Given the description of an element on the screen output the (x, y) to click on. 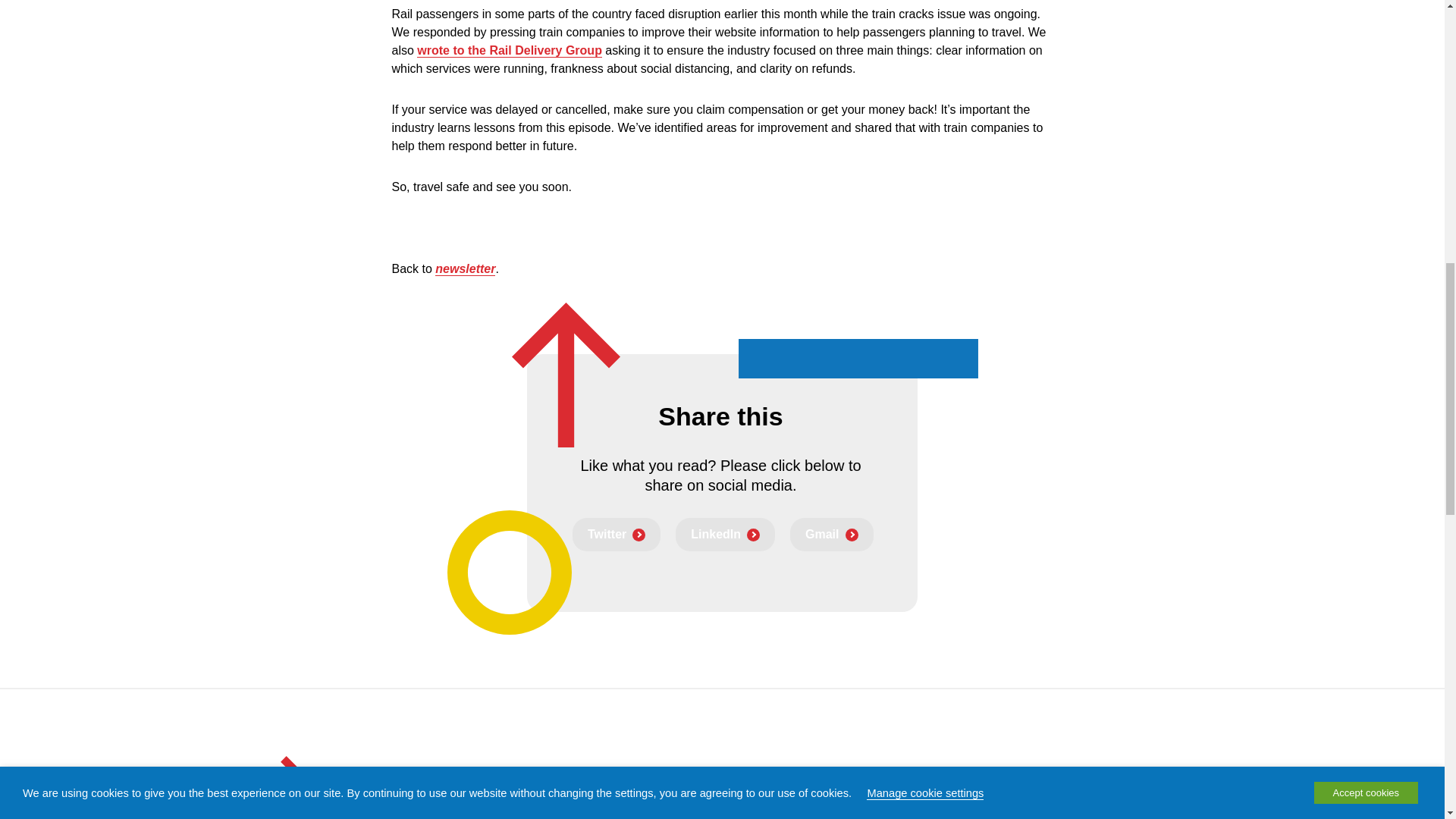
Twitter (616, 534)
Gmail (831, 534)
wrote to the Rail Delivery Group (509, 50)
LinkedIn (724, 534)
newsletter (465, 269)
